Given the description of an element on the screen output the (x, y) to click on. 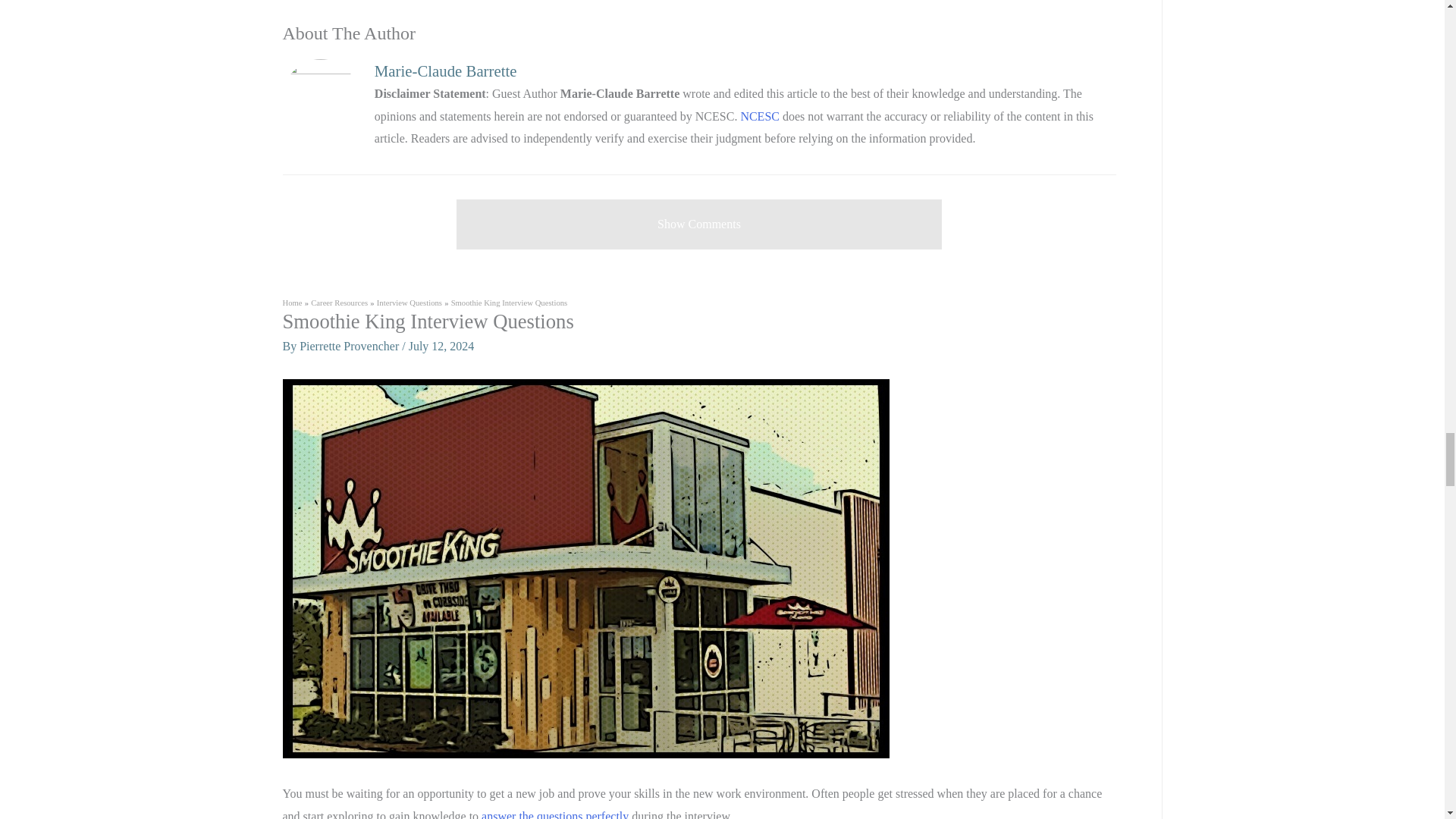
View all posts by Pierrette Provencher (350, 345)
